Given the description of an element on the screen output the (x, y) to click on. 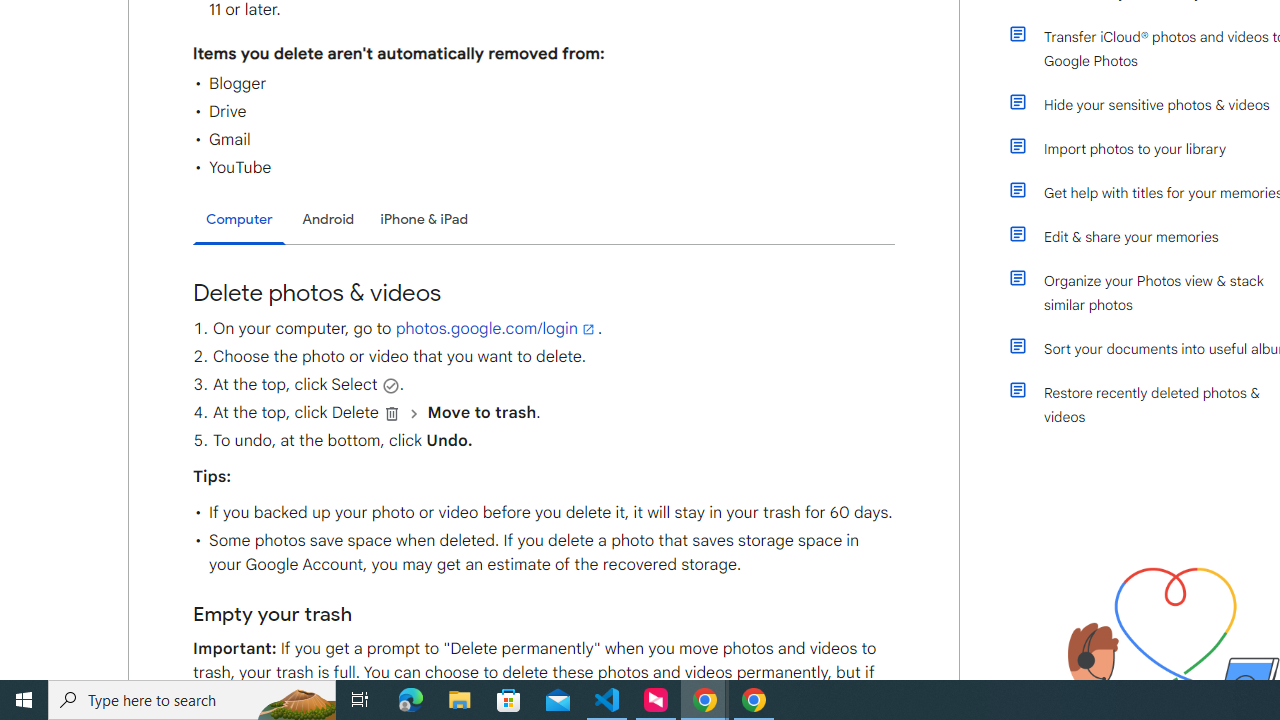
Android (328, 219)
Select (390, 385)
Computer (239, 219)
photos.google.com/login (496, 328)
iPhone & iPad (424, 219)
and then (413, 413)
Delete (391, 413)
